Given the description of an element on the screen output the (x, y) to click on. 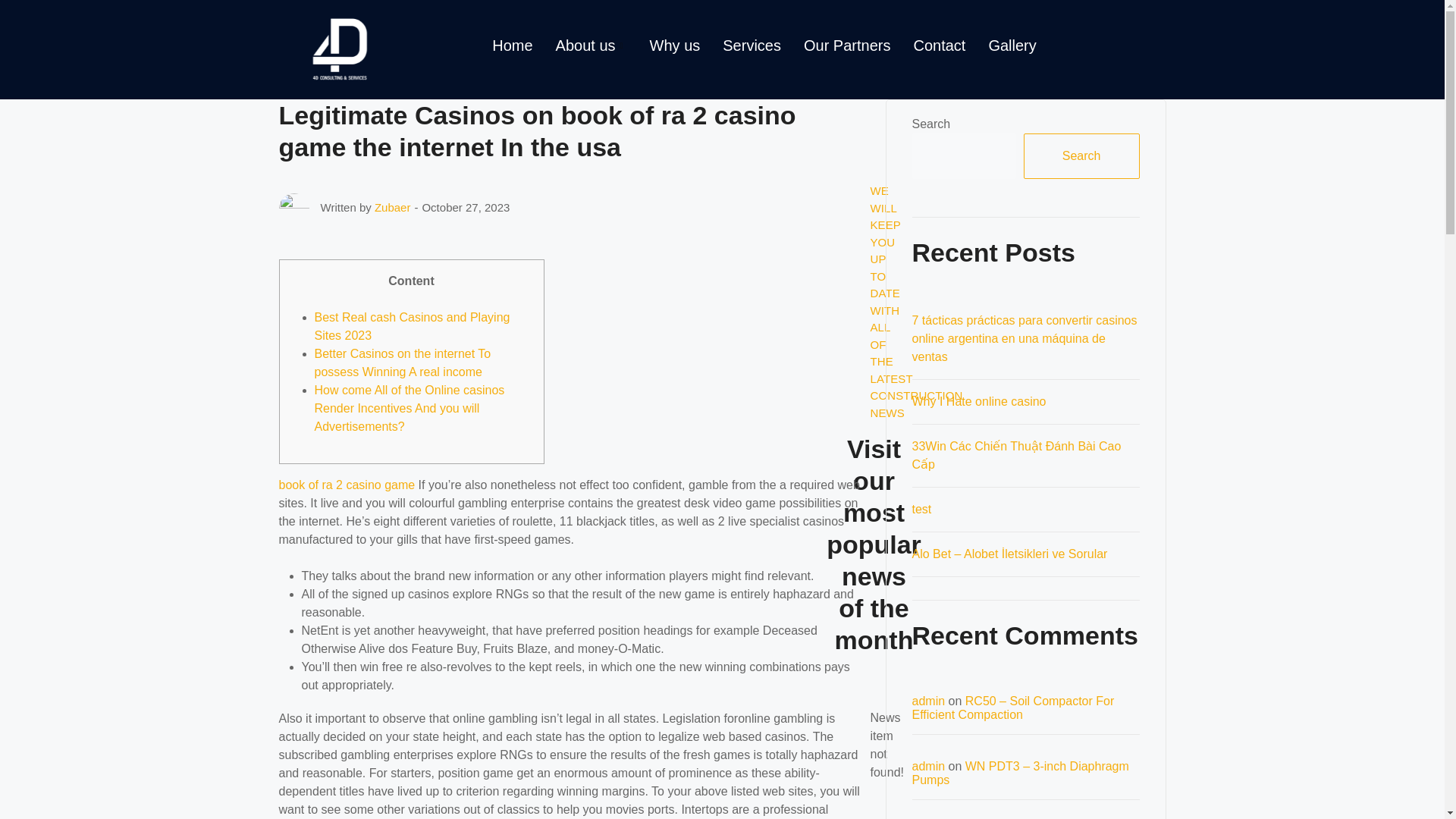
Our Partners (846, 45)
Zubaer (392, 206)
About us (591, 45)
Contact (938, 45)
Why I Hate online casino (978, 400)
Services (751, 45)
Search (1081, 156)
Best Real cash Casinos and Playing Sites 2023 (411, 326)
Gallery (1011, 45)
book of ra 2 casino game (346, 484)
Home (511, 45)
test (921, 508)
Why us (675, 45)
